Given the description of an element on the screen output the (x, y) to click on. 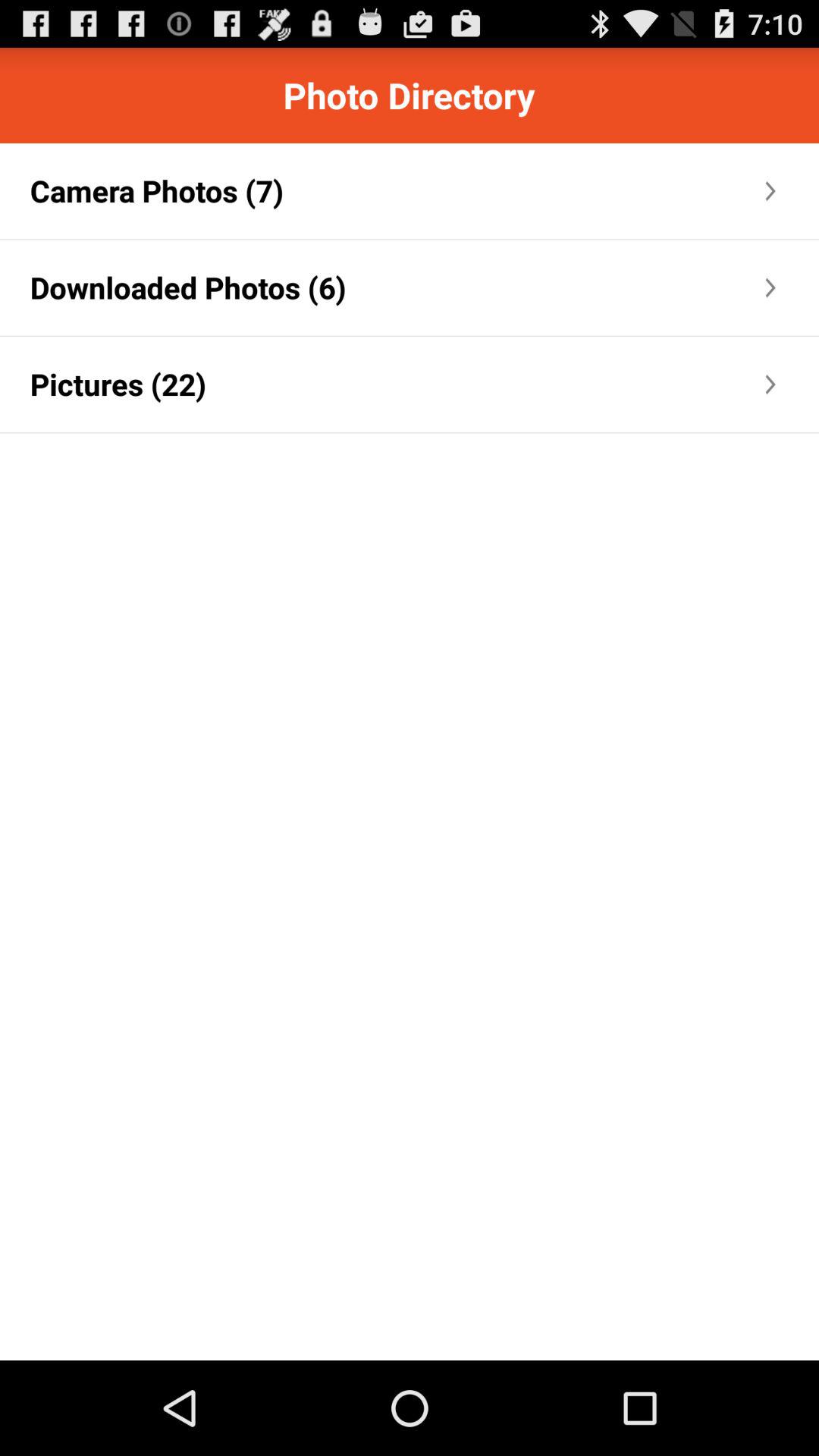
swipe until the pictures (22) app (118, 384)
